Given the description of an element on the screen output the (x, y) to click on. 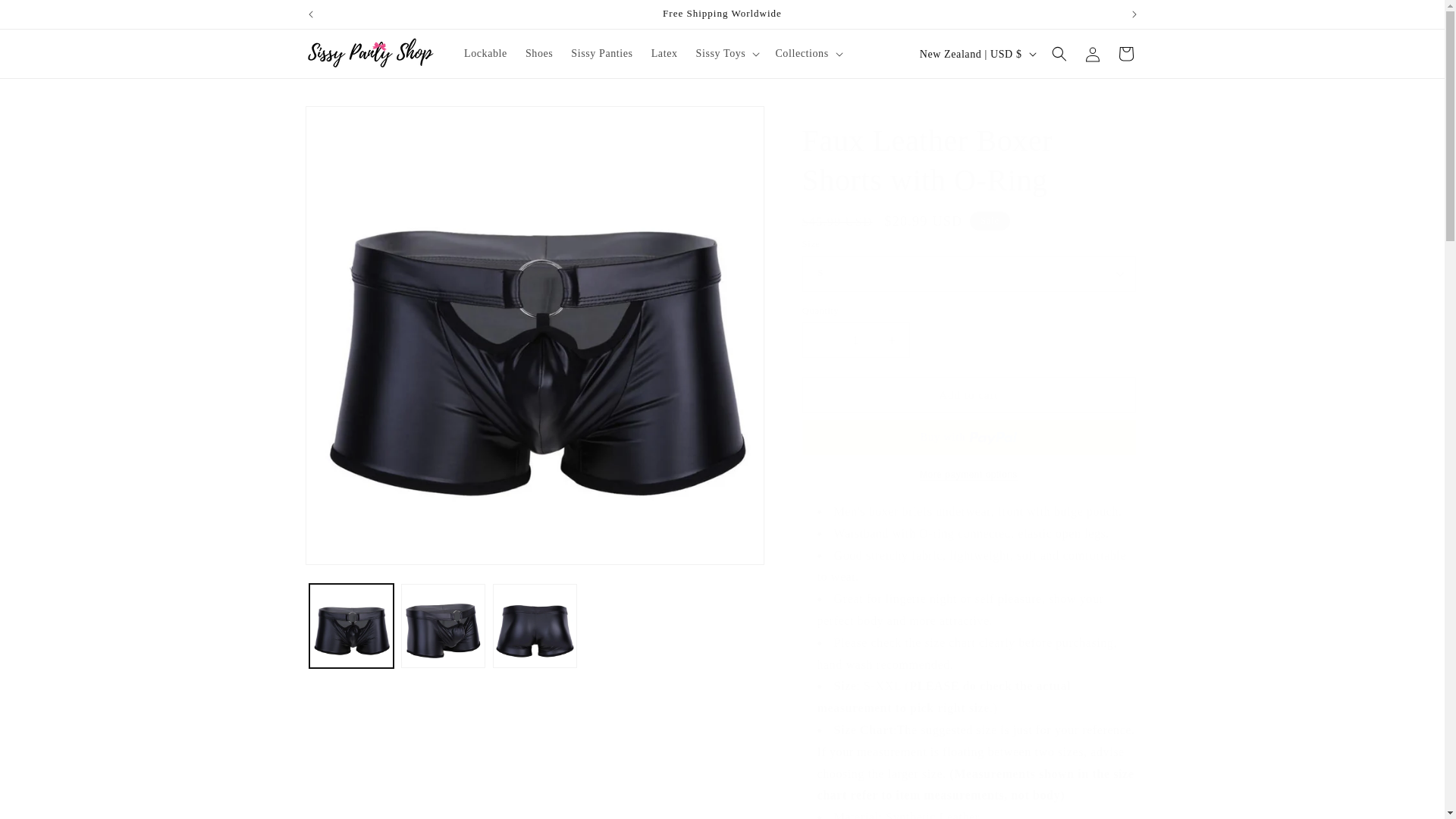
Skip to content (45, 17)
1 (856, 339)
